Given the description of an element on the screen output the (x, y) to click on. 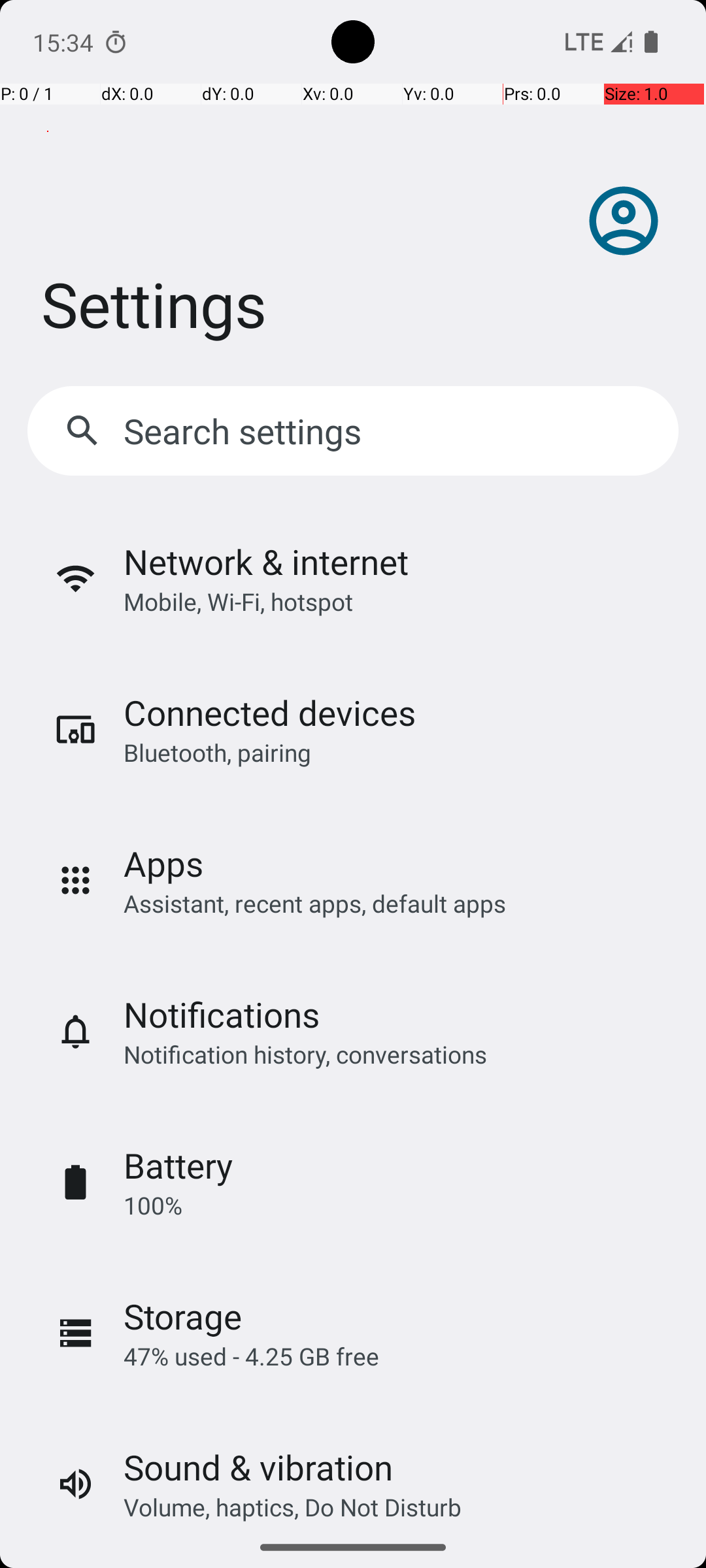
47% used - 4.25 GB free Element type: android.widget.TextView (251, 1355)
